Given the description of an element on the screen output the (x, y) to click on. 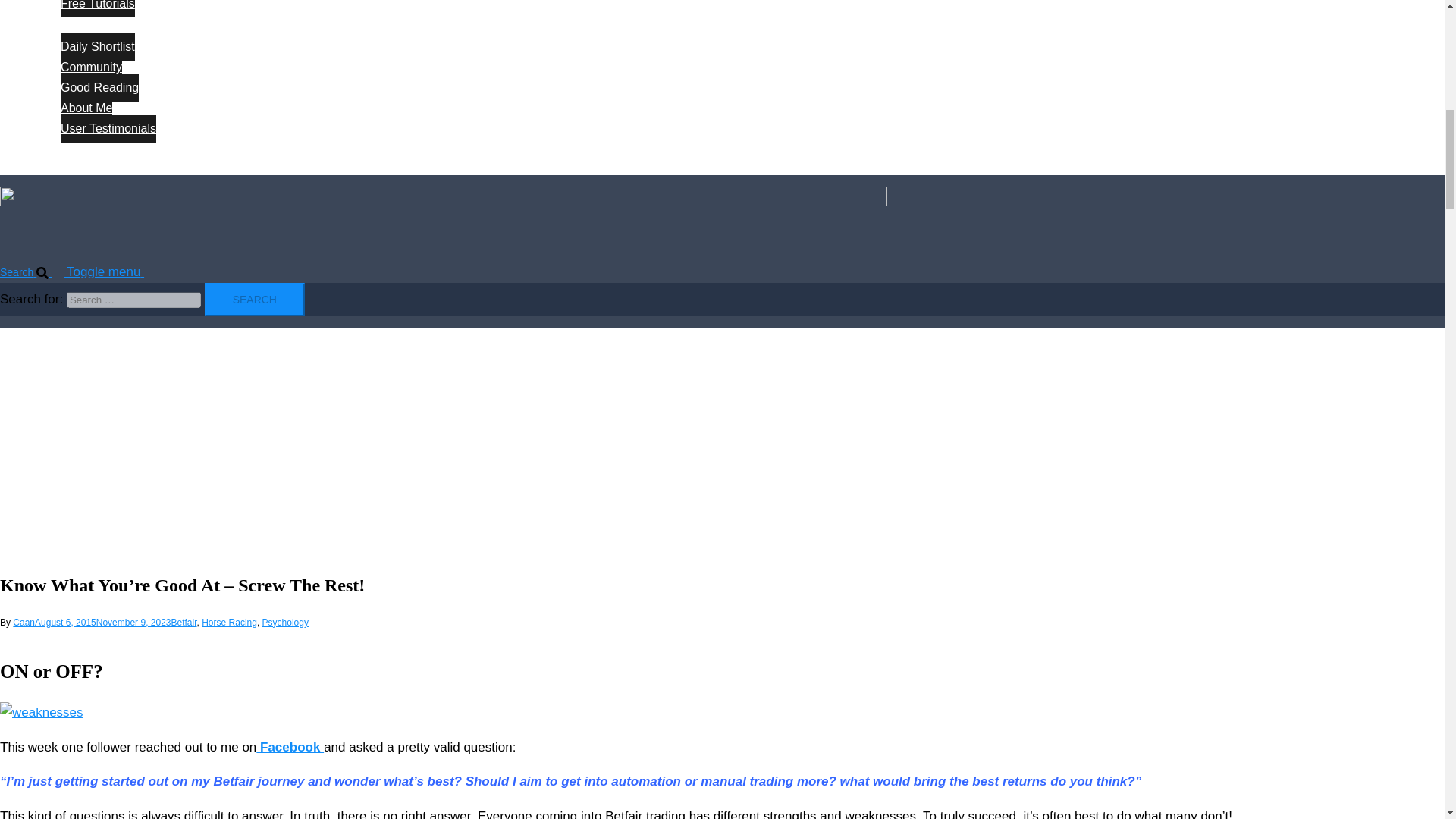
About Me (86, 108)
Community (91, 67)
Good Reading (99, 87)
Daily Shortlist (98, 46)
Search (254, 299)
User Testimonials (108, 128)
Free Tutorials (98, 8)
Search (254, 299)
